Given the description of an element on the screen output the (x, y) to click on. 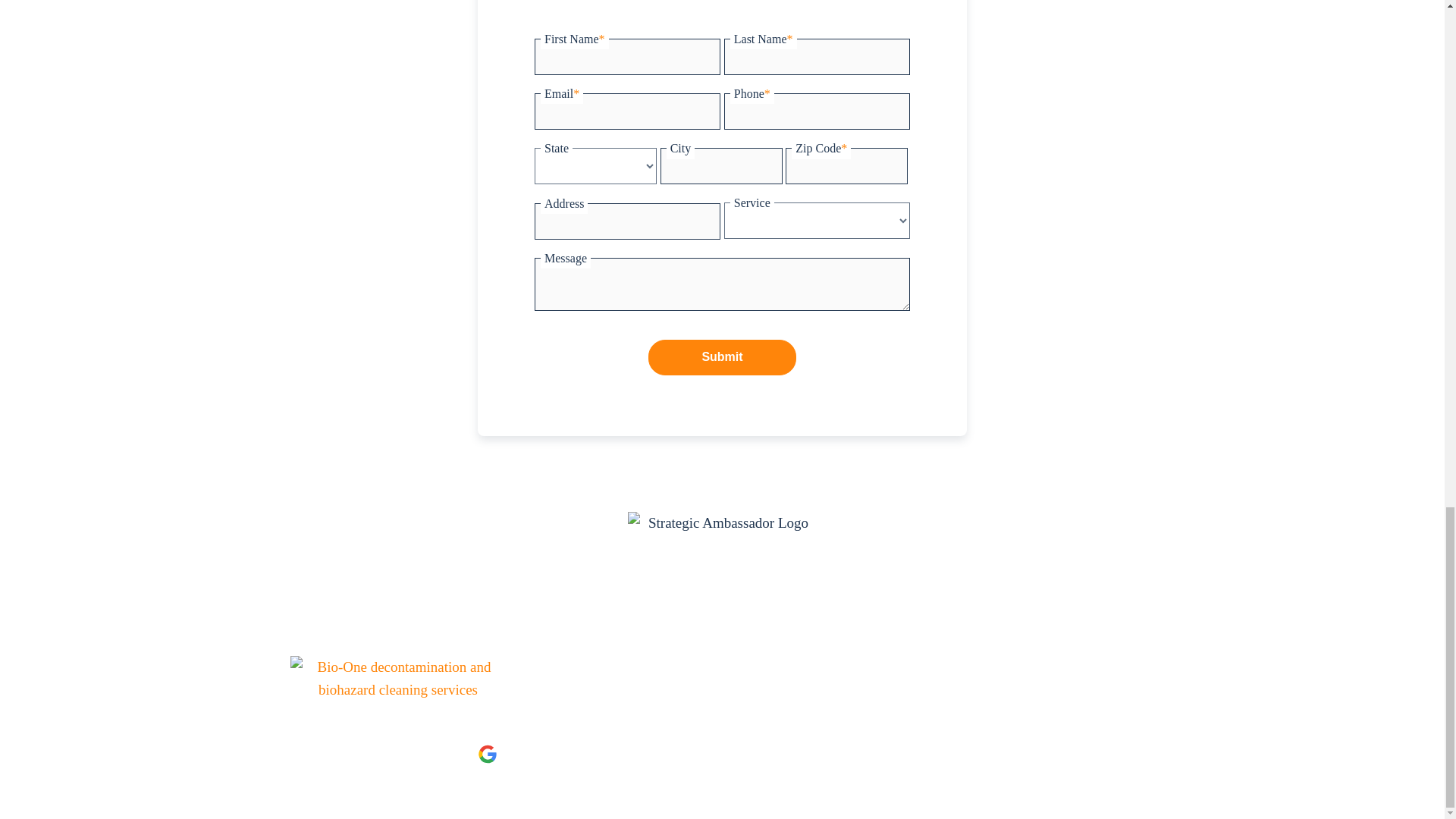
Own a Franchise (657, 684)
Find a Location (741, 684)
Submit (721, 356)
Services (535, 675)
Submit (721, 356)
Blog (804, 675)
About (589, 675)
